Given the description of an element on the screen output the (x, y) to click on. 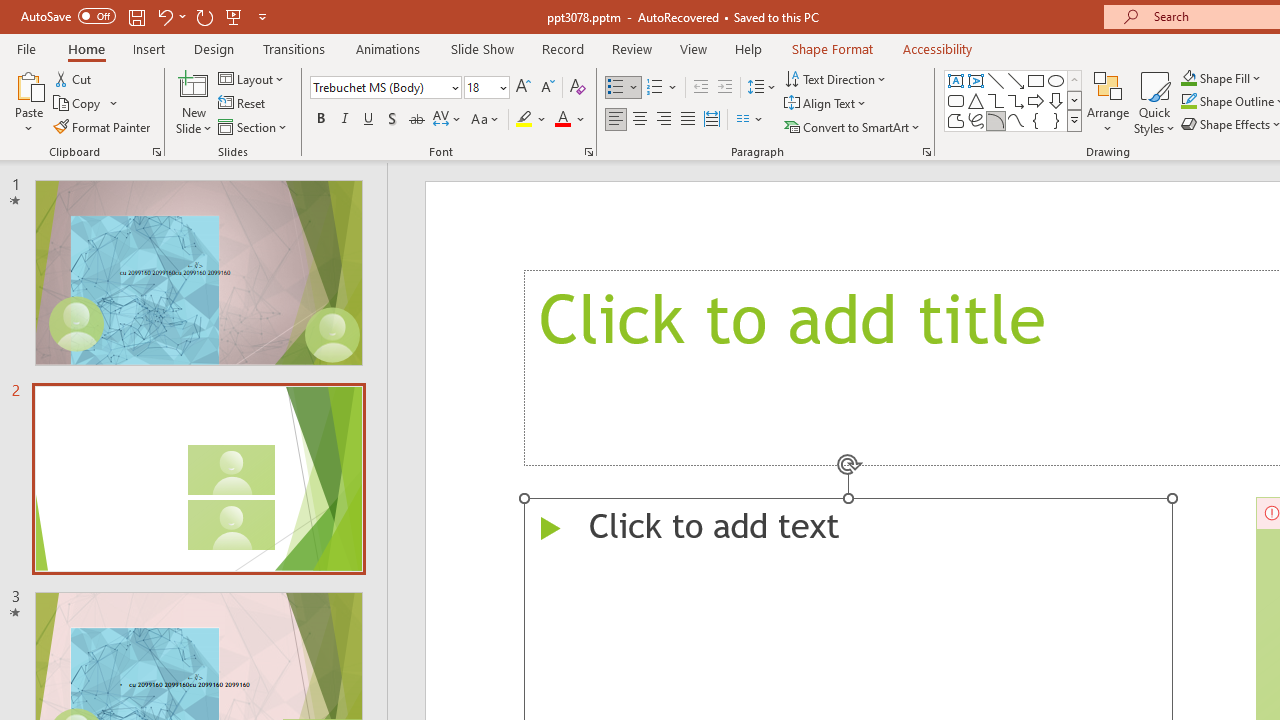
Shape Fill Dark Green, Accent 2 (1188, 78)
